Given the description of an element on the screen output the (x, y) to click on. 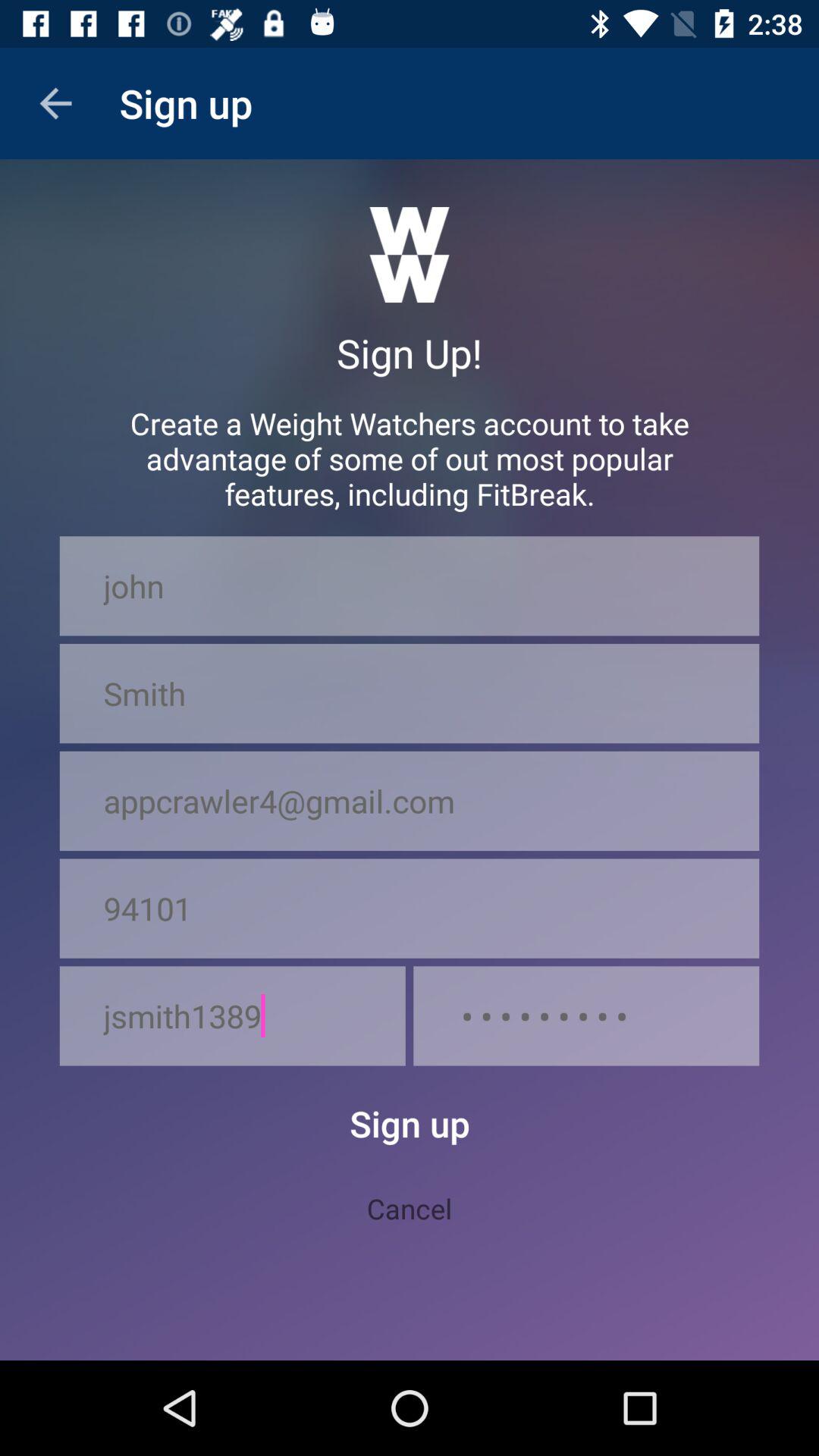
turn on item above jsmith1389 icon (409, 908)
